Given the description of an element on the screen output the (x, y) to click on. 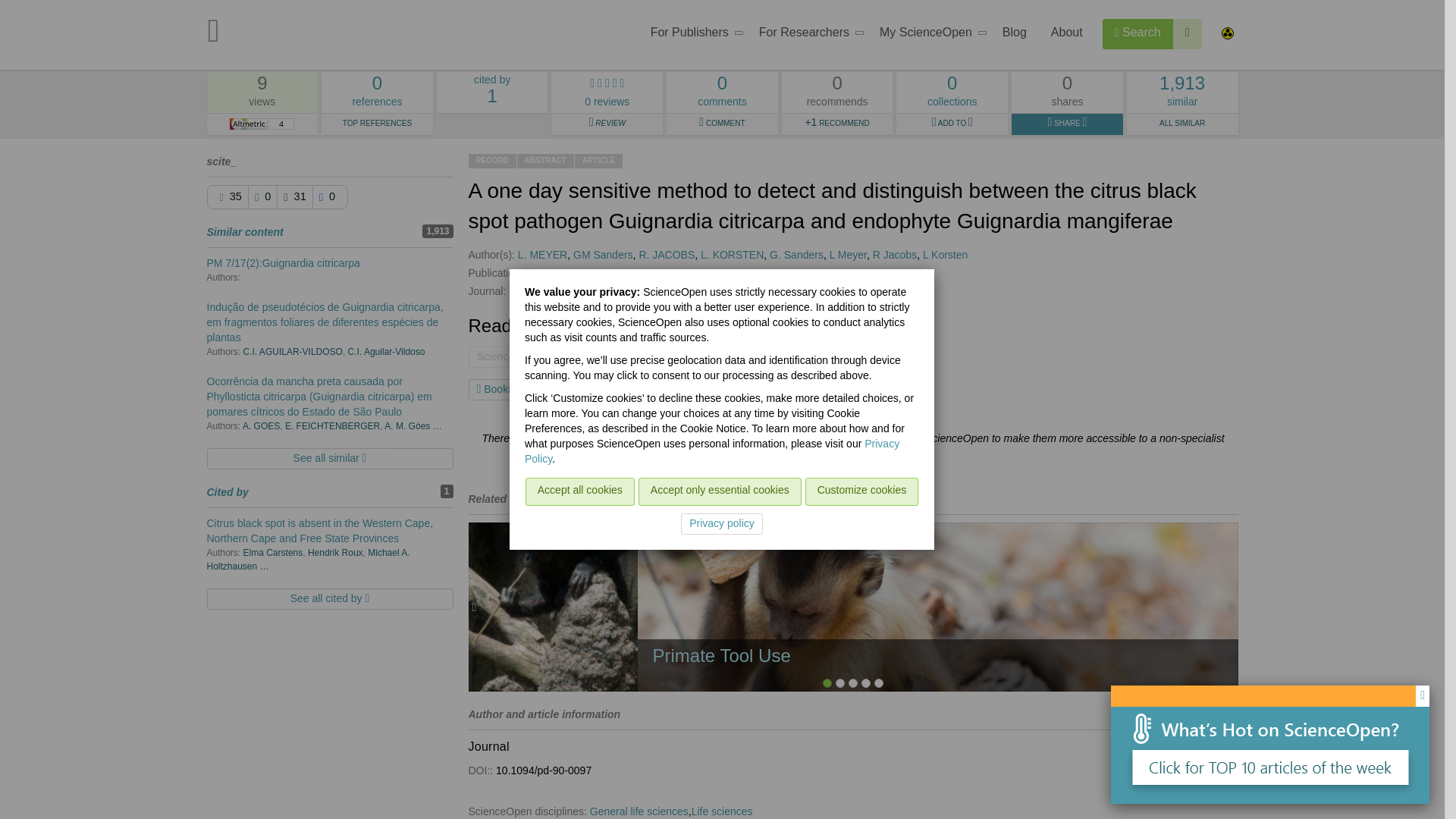
Advanced search (1187, 33)
My ScienceOpen (928, 34)
Bookmark (376, 92)
Search (504, 389)
For Publishers (1137, 33)
For Researchers (692, 34)
